Given the description of an element on the screen output the (x, y) to click on. 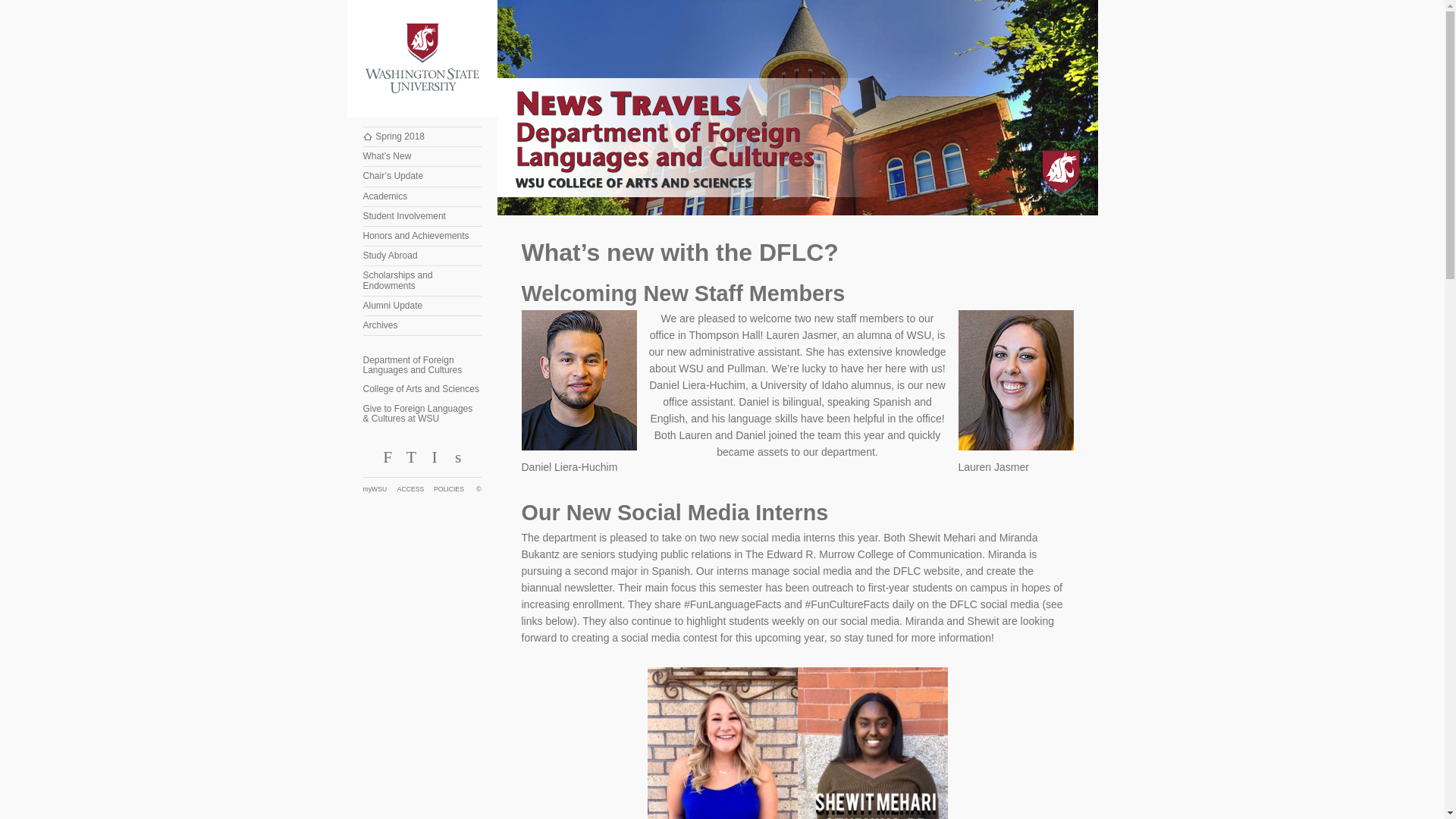
Archives (421, 325)
Honors and Achievements (421, 235)
Academics (421, 196)
Spring 2018 (421, 136)
Scholarships and Endowments (421, 280)
Study Abroad (421, 255)
Alumni Update (421, 305)
Student Involvement (421, 216)
Washington State University (422, 58)
